Given the description of an element on the screen output the (x, y) to click on. 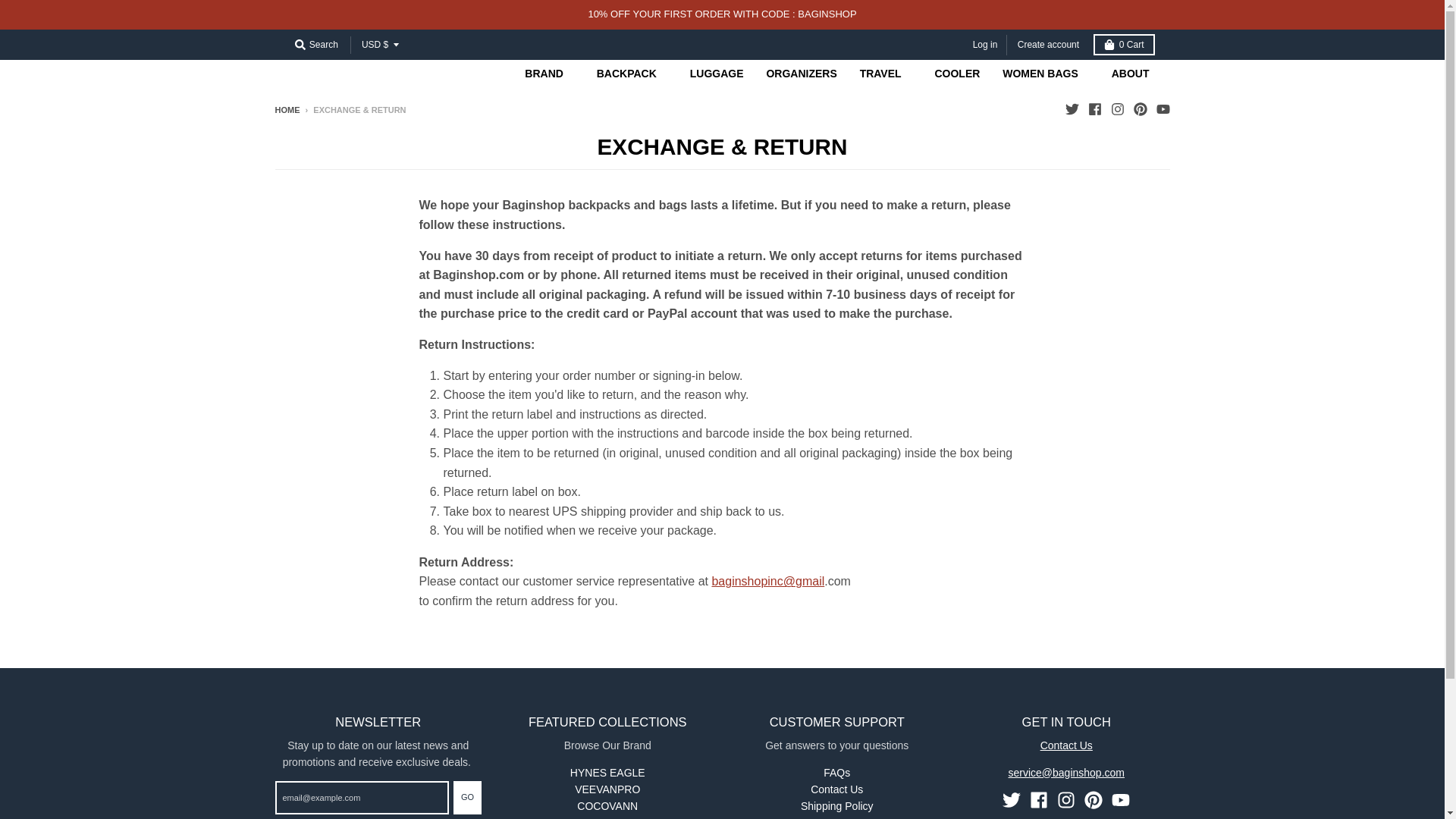
Instagram - BAGINSHOP (1116, 109)
Pinterest - BAGINSHOP (1093, 800)
Pinterest - BAGINSHOP (1139, 109)
Back to the frontpage (287, 109)
TRAVEL (885, 72)
Facebook - BAGINSHOP (1093, 109)
LUGGAGE (716, 72)
YouTube - BAGINSHOP (1162, 109)
COOLER (957, 72)
Twitter - BAGINSHOP (1071, 109)
BACKPACK (631, 72)
0 Cart (1123, 44)
Twitter - BAGINSHOP (1011, 800)
ORGANIZERS (800, 72)
YouTube - BAGINSHOP (1120, 800)
